Given the description of an element on the screen output the (x, y) to click on. 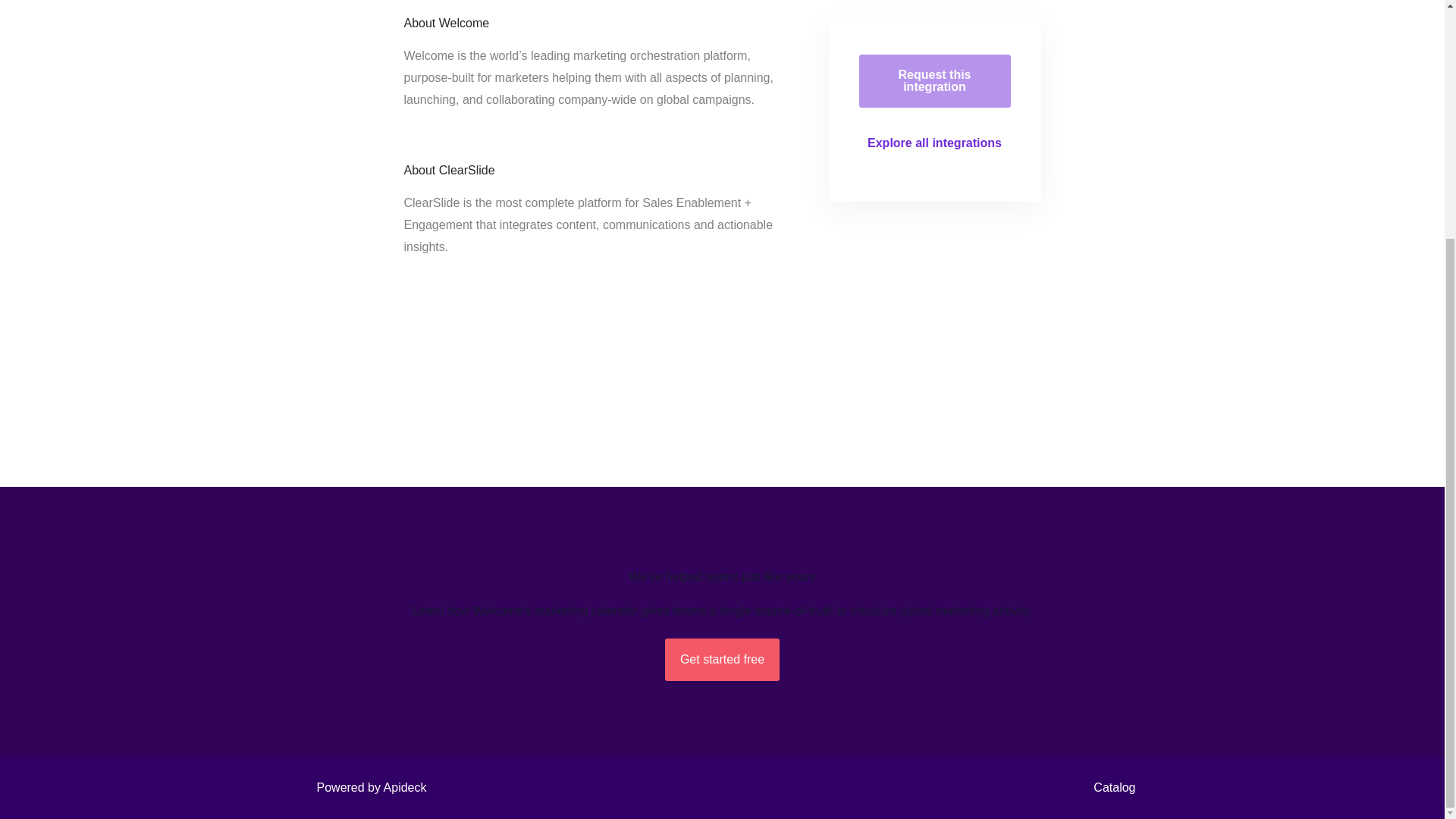
Get started free (721, 659)
Request this integration (934, 80)
Explore all integrations (934, 142)
Powered by Apideck (366, 787)
Catalog (1109, 787)
